Given the description of an element on the screen output the (x, y) to click on. 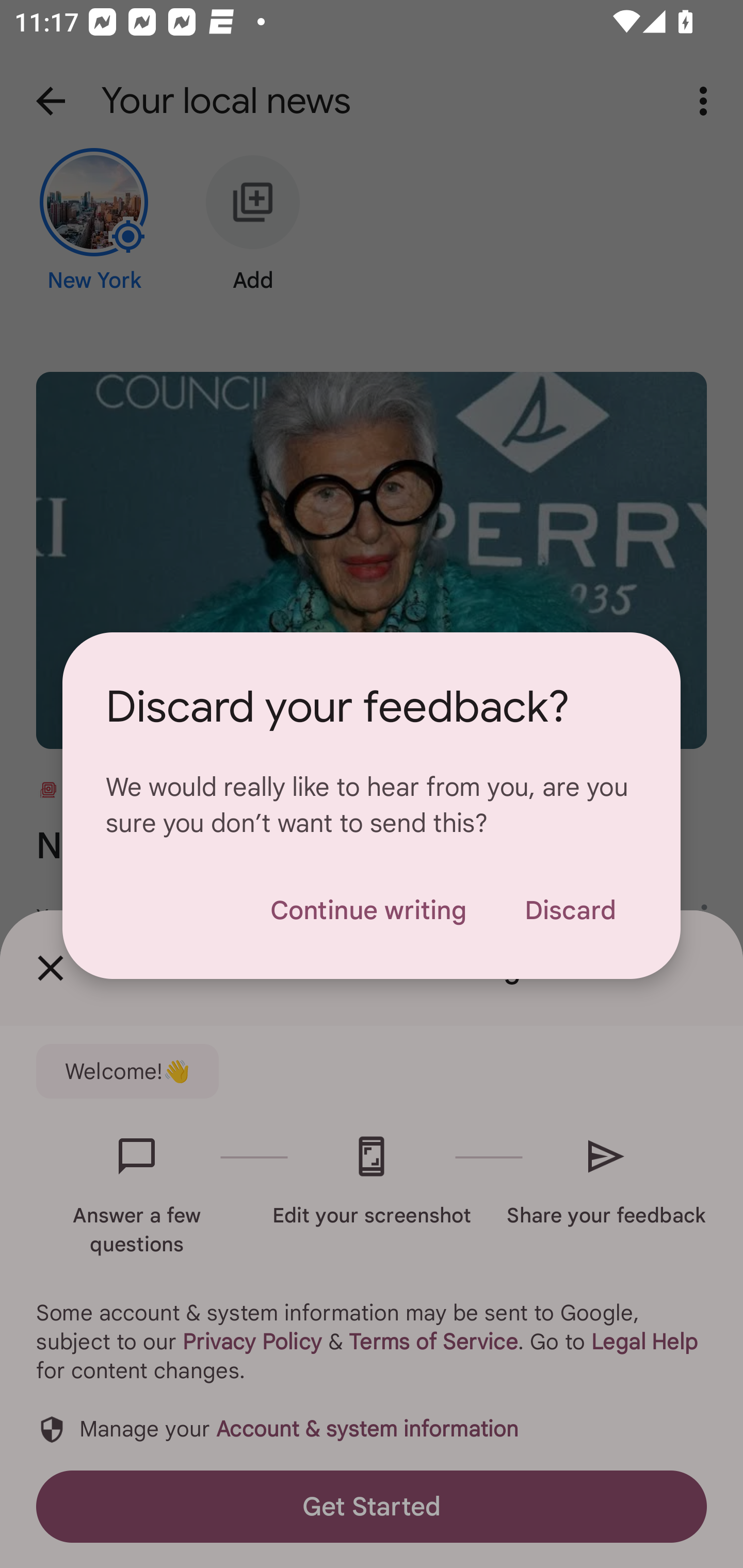
Continue writing (368, 910)
Discard (569, 910)
